Given the description of an element on the screen output the (x, y) to click on. 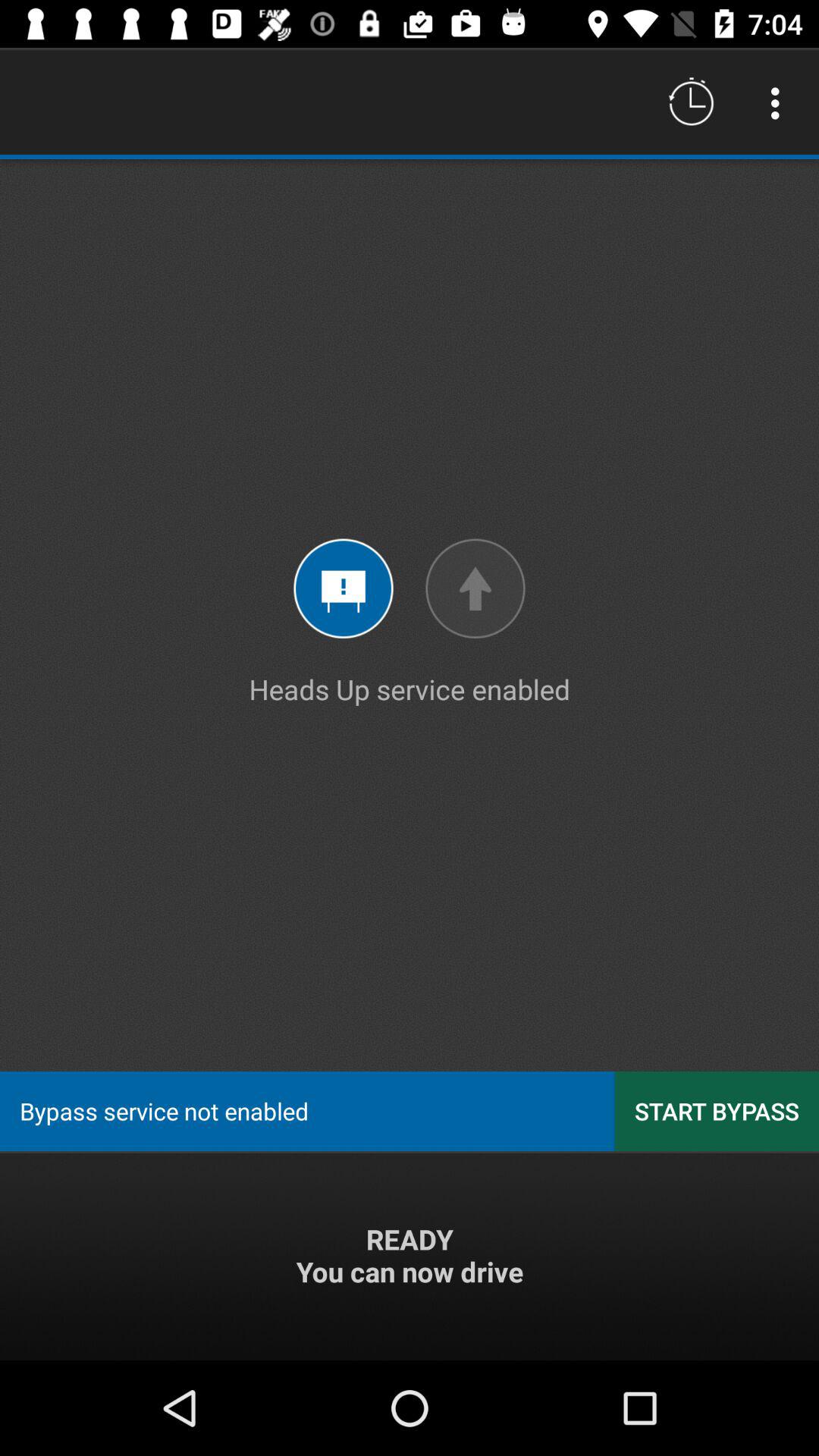
turn off icon next to the bypass service not (716, 1111)
